Given the description of an element on the screen output the (x, y) to click on. 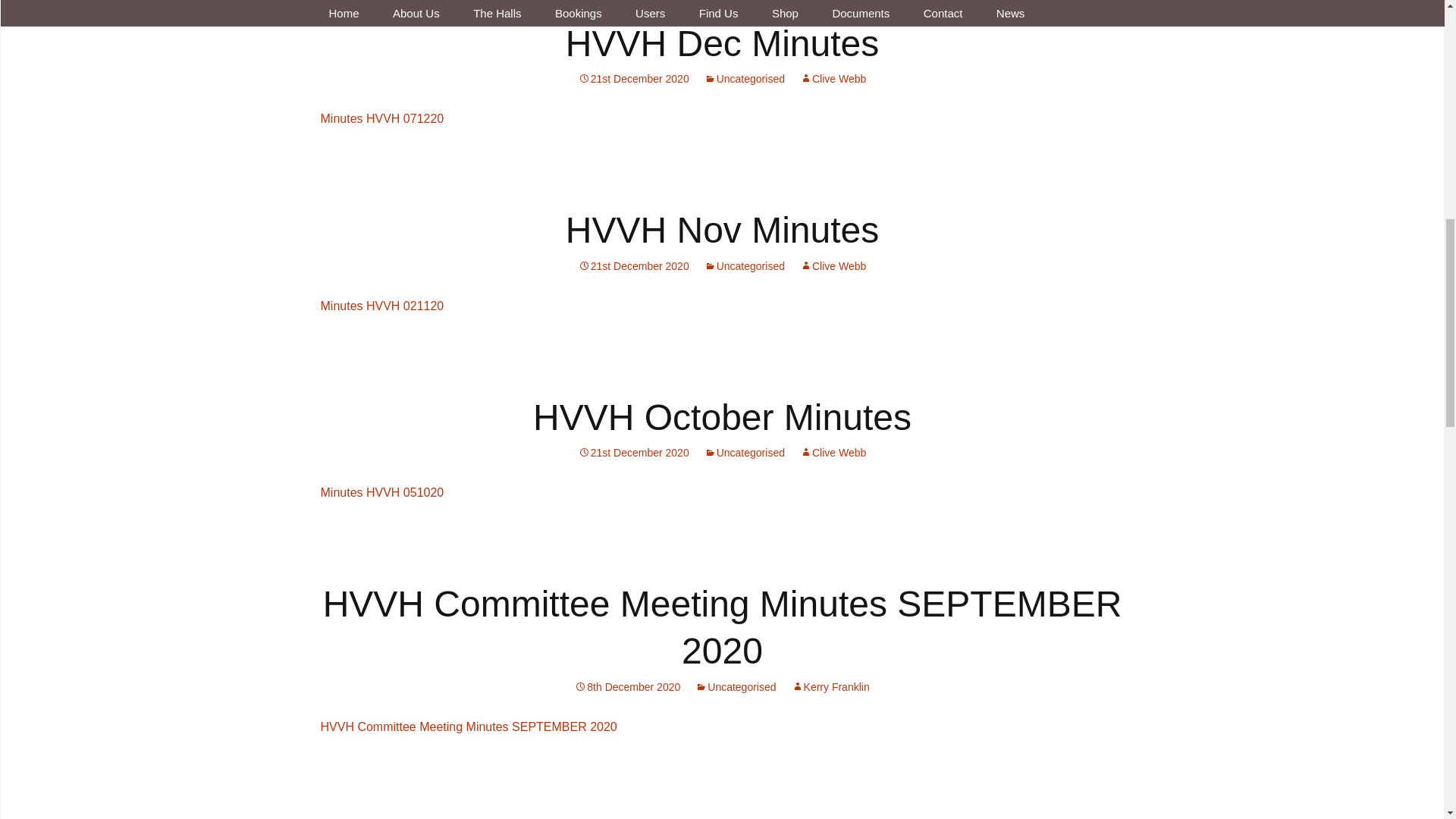
View all posts by Clive Webb (832, 452)
View all posts by Kerry Franklin (830, 686)
Clive Webb (832, 78)
Permalink to HVVH Committee Meeting Minutes SEPTEMBER 2020 (627, 686)
Permalink to HVVH October Minutes (633, 452)
Permalink to HVVH Dec Minutes (633, 78)
21st December 2020 (633, 78)
View all posts by Clive Webb (832, 265)
HVVH Dec Minutes (722, 43)
Permalink to HVVH Nov Minutes (633, 265)
